Given the description of an element on the screen output the (x, y) to click on. 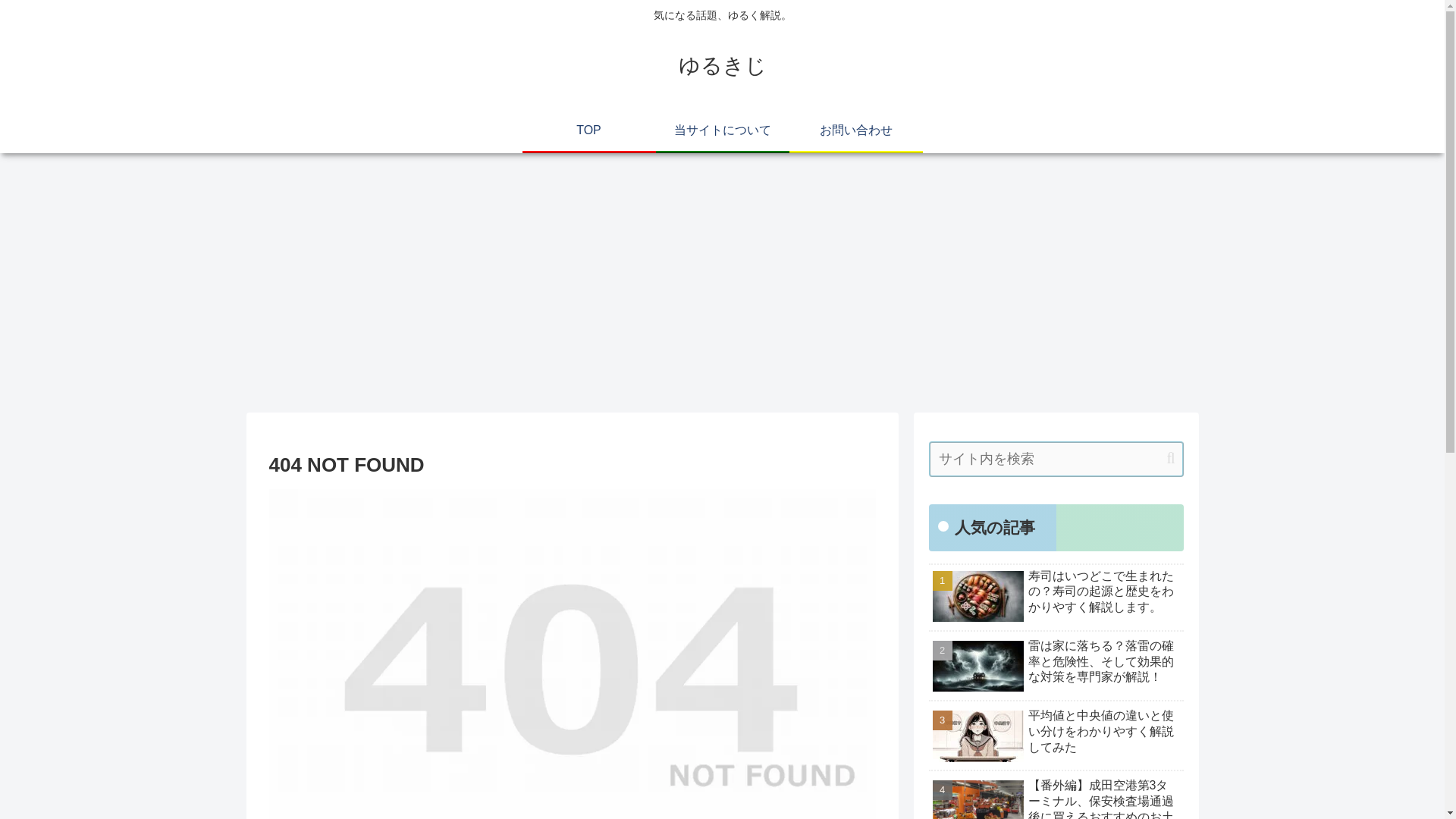
TOP (588, 128)
